Given the description of an element on the screen output the (x, y) to click on. 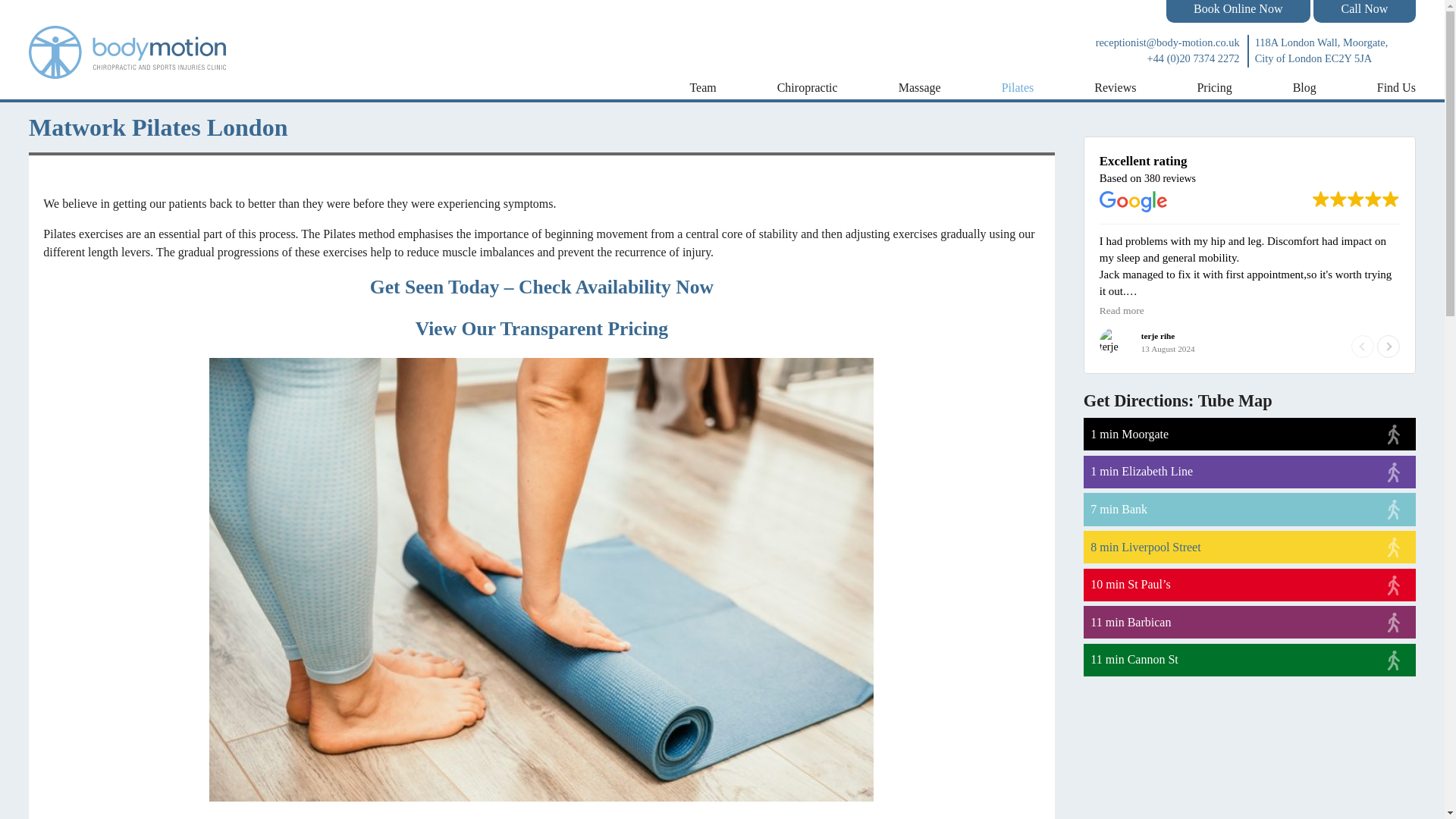
Book Online Now (1238, 11)
Send us an email (1148, 43)
Pilates (1017, 87)
Reviews (1114, 87)
Massage (919, 87)
11 min Barbican (1249, 622)
380 reviews (1169, 178)
Blog (1304, 87)
Find Us (1396, 87)
1 min Moorgate (1249, 433)
